Given the description of an element on the screen output the (x, y) to click on. 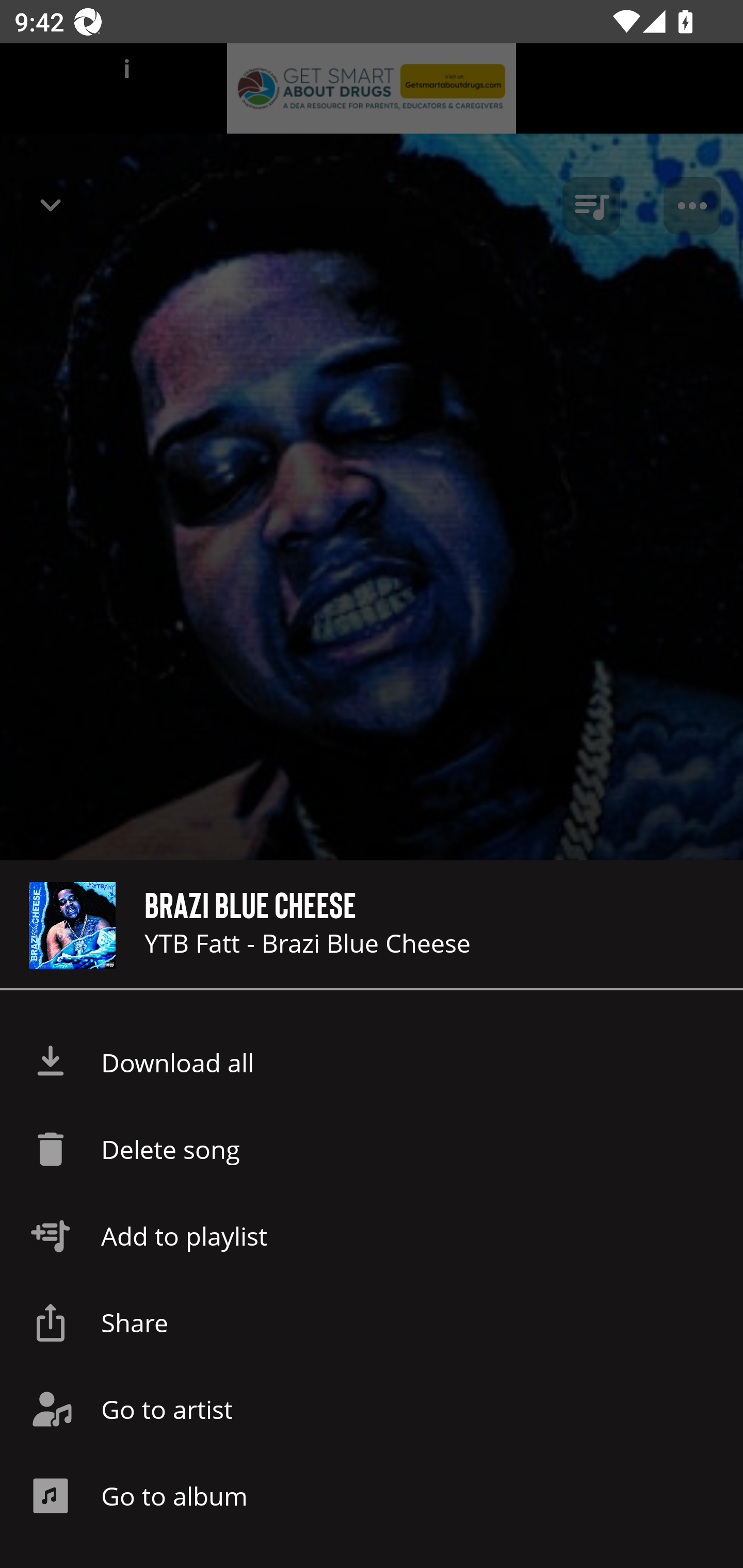
Download all (371, 1062)
Delete song (371, 1149)
Add to playlist (371, 1236)
Share (371, 1322)
Go to artist (371, 1408)
Go to album (371, 1495)
